Given the description of an element on the screen output the (x, y) to click on. 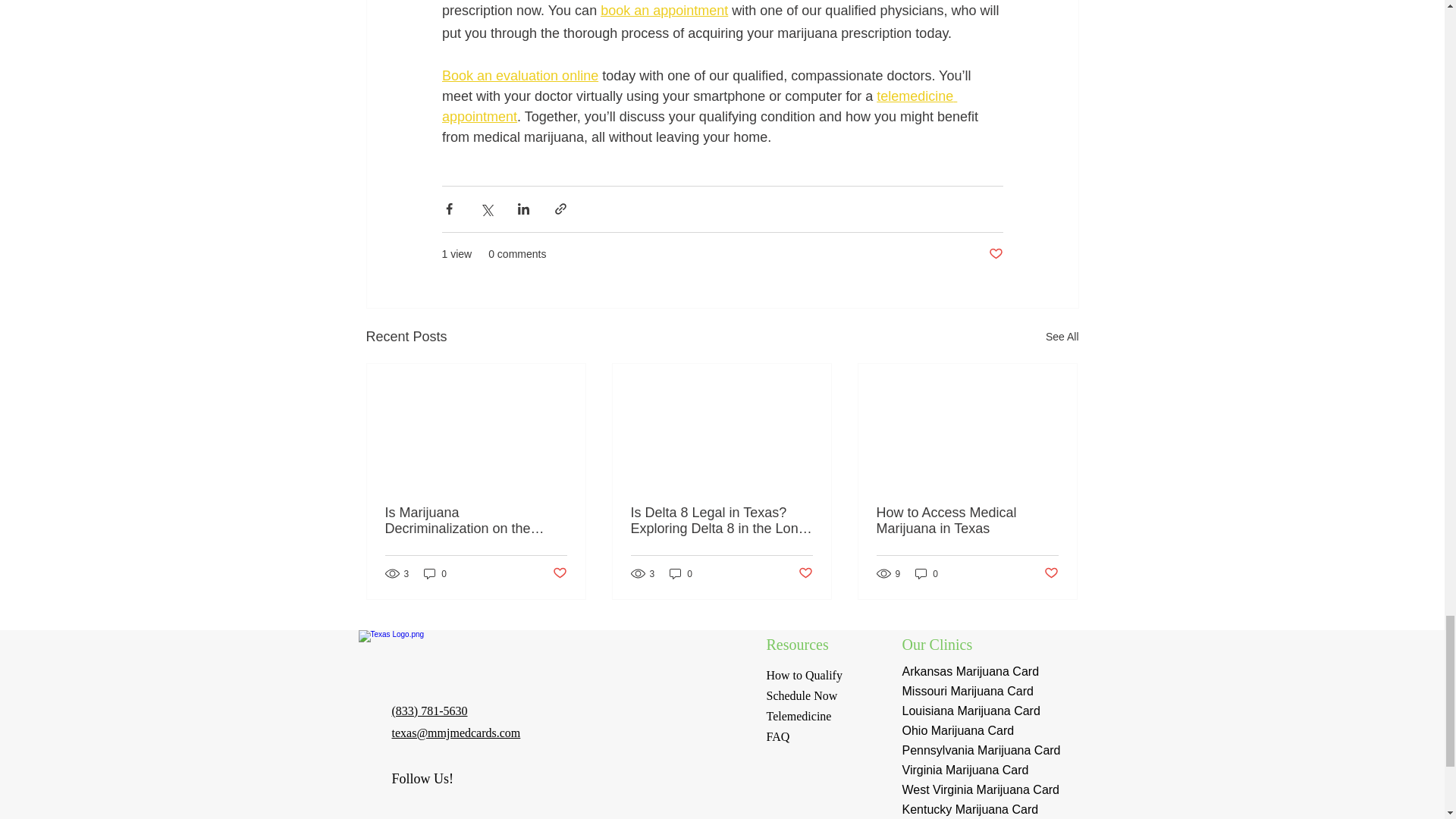
book an appointment (663, 10)
Is Marijuana Decriminalization on the Horizon for Texas? (476, 521)
0 (926, 573)
How to Access Medical Marijuana in Texas (967, 521)
See All (1061, 336)
Telemedicine  (799, 716)
FAQ (777, 736)
Post not marked as liked (995, 254)
Schedule Now (801, 695)
telemedicine appointment (698, 106)
Book an evaluation online (518, 75)
Arkansas Marijuana Card (970, 671)
Post not marked as liked (558, 573)
Post not marked as liked (1050, 573)
